Given the description of an element on the screen output the (x, y) to click on. 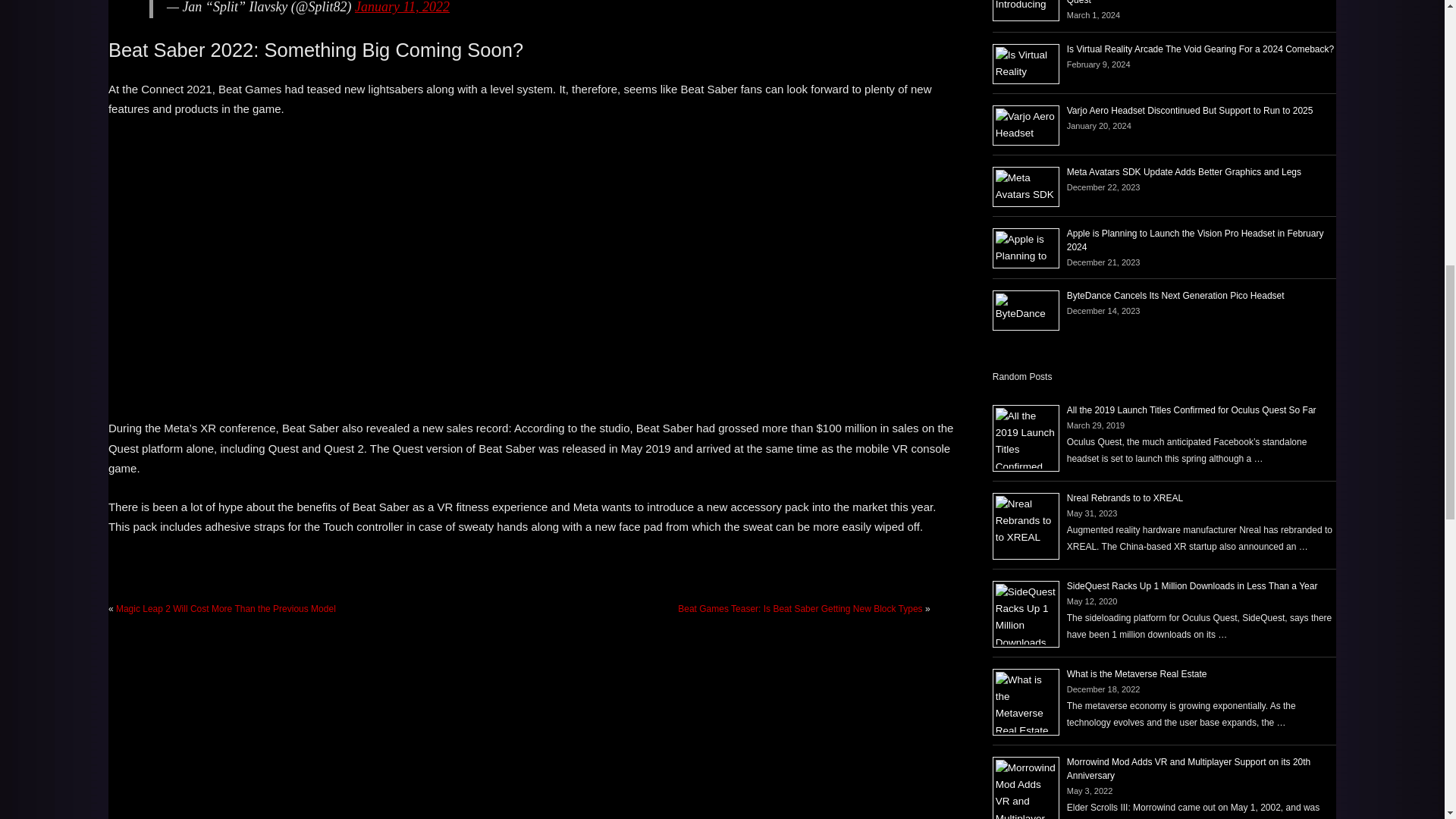
YouTube video player (335, 265)
